Given the description of an element on the screen output the (x, y) to click on. 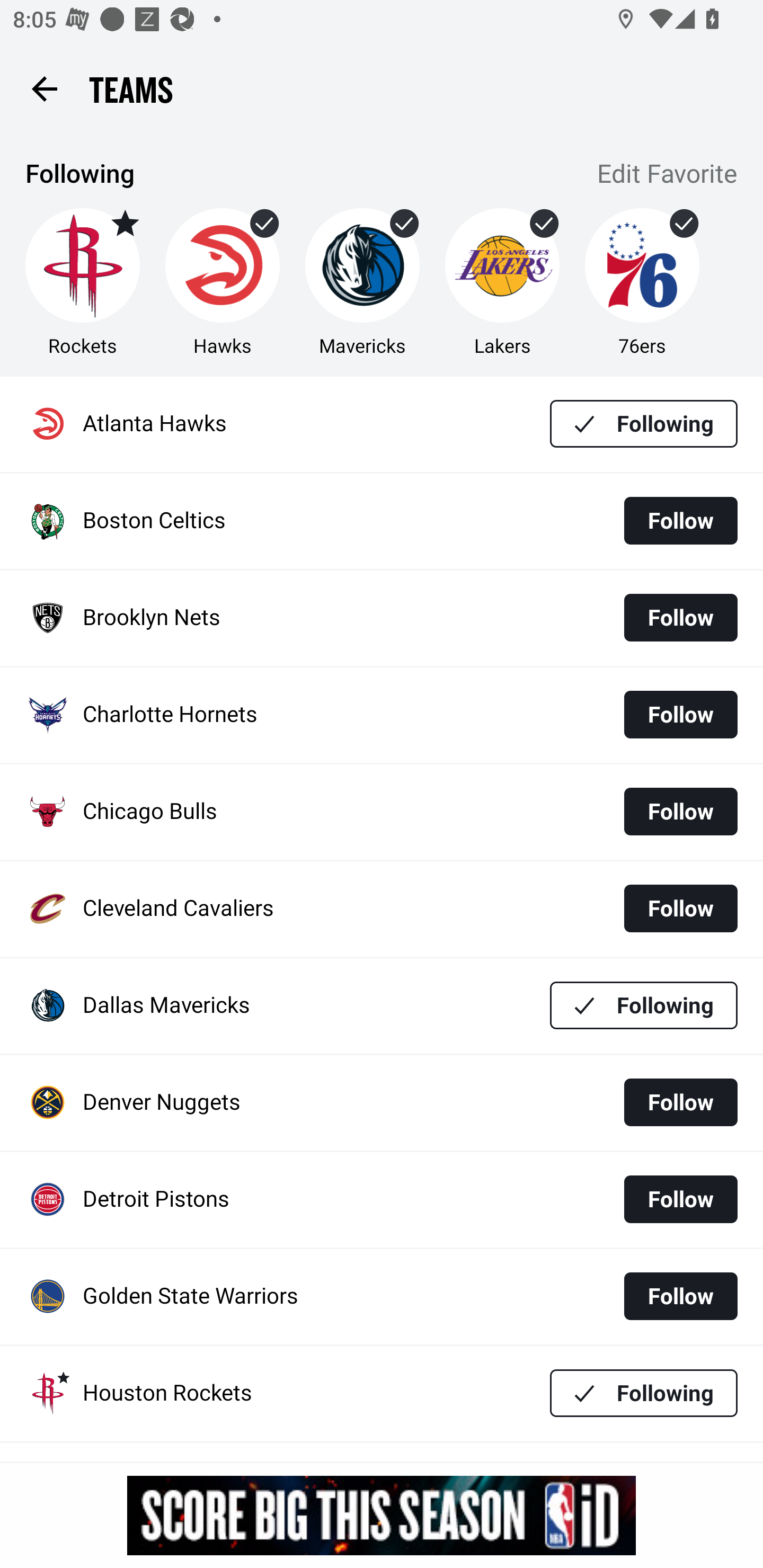
Back button (44, 88)
Edit Favorite (667, 175)
Atlanta Hawks Following (381, 423)
Following (643, 423)
Boston Celtics Follow (381, 521)
Follow (680, 520)
Brooklyn Nets Follow (381, 618)
Follow (680, 617)
Charlotte Hornets Follow (381, 714)
Follow (680, 713)
Chicago Bulls Follow (381, 812)
Follow (680, 811)
Cleveland Cavaliers Follow (381, 908)
Follow (680, 908)
Dallas Mavericks Following (381, 1005)
Following (643, 1005)
Denver Nuggets Follow (381, 1102)
Follow (680, 1101)
Detroit Pistons Follow (381, 1200)
Follow (680, 1199)
Golden State Warriors Follow (381, 1296)
Follow (680, 1295)
Houston Rockets Following (381, 1392)
Following (643, 1392)
g5nqqygr7owph (381, 1515)
